Given the description of an element on the screen output the (x, y) to click on. 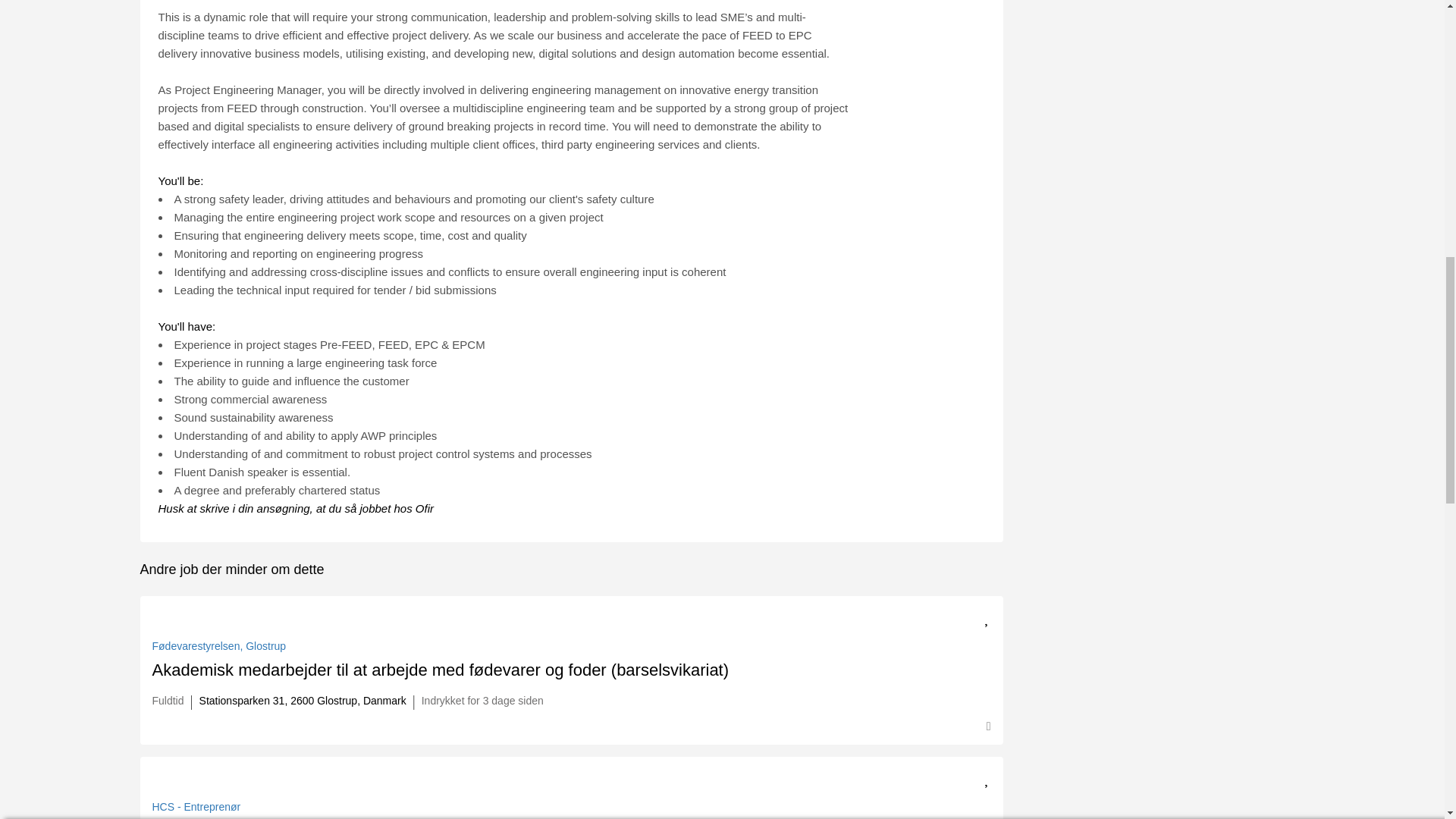
jobbet hos Ofir (396, 508)
